Given the description of an element on the screen output the (x, y) to click on. 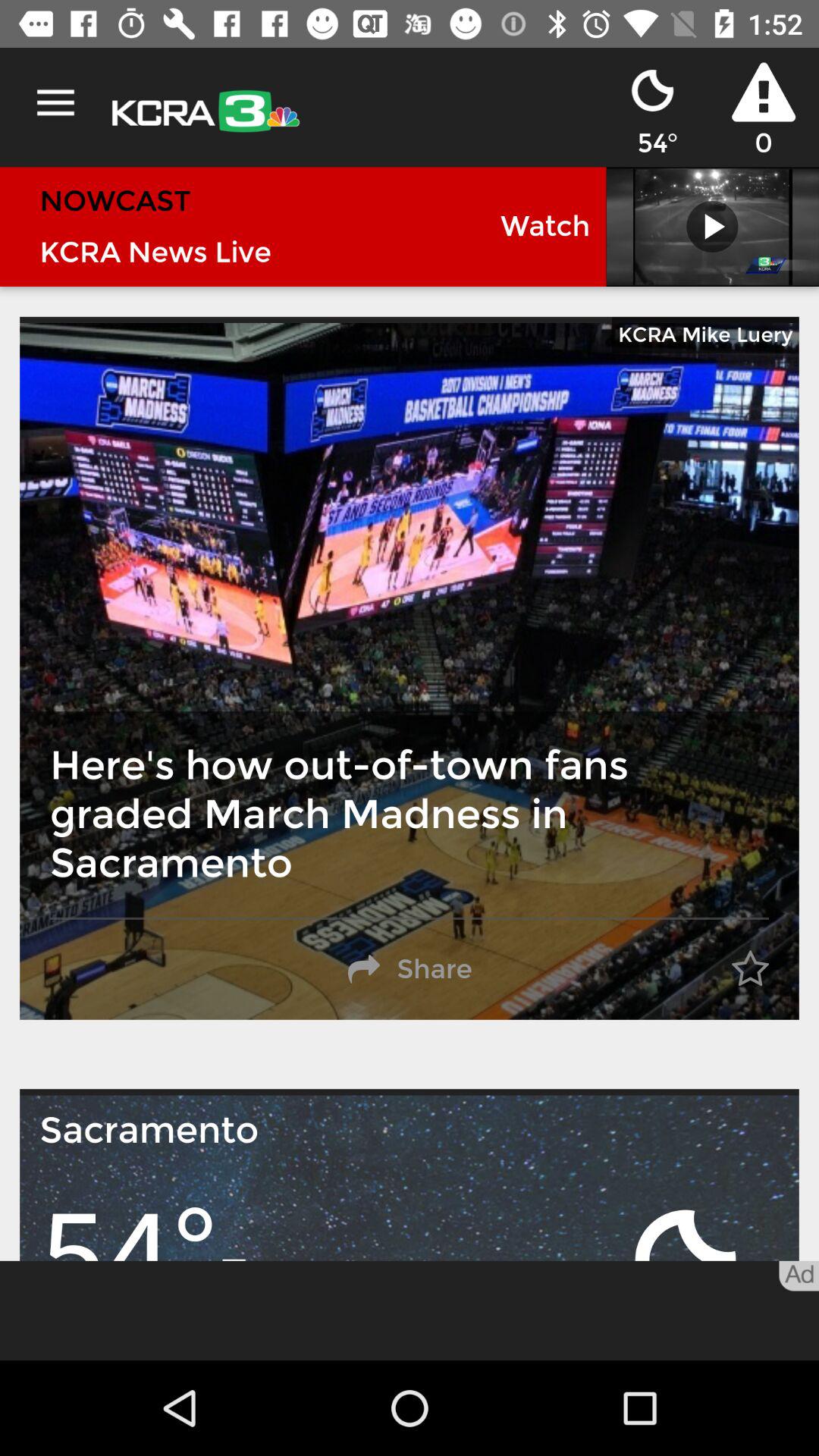
open the item next to the share item (750, 969)
